Given the description of an element on the screen output the (x, y) to click on. 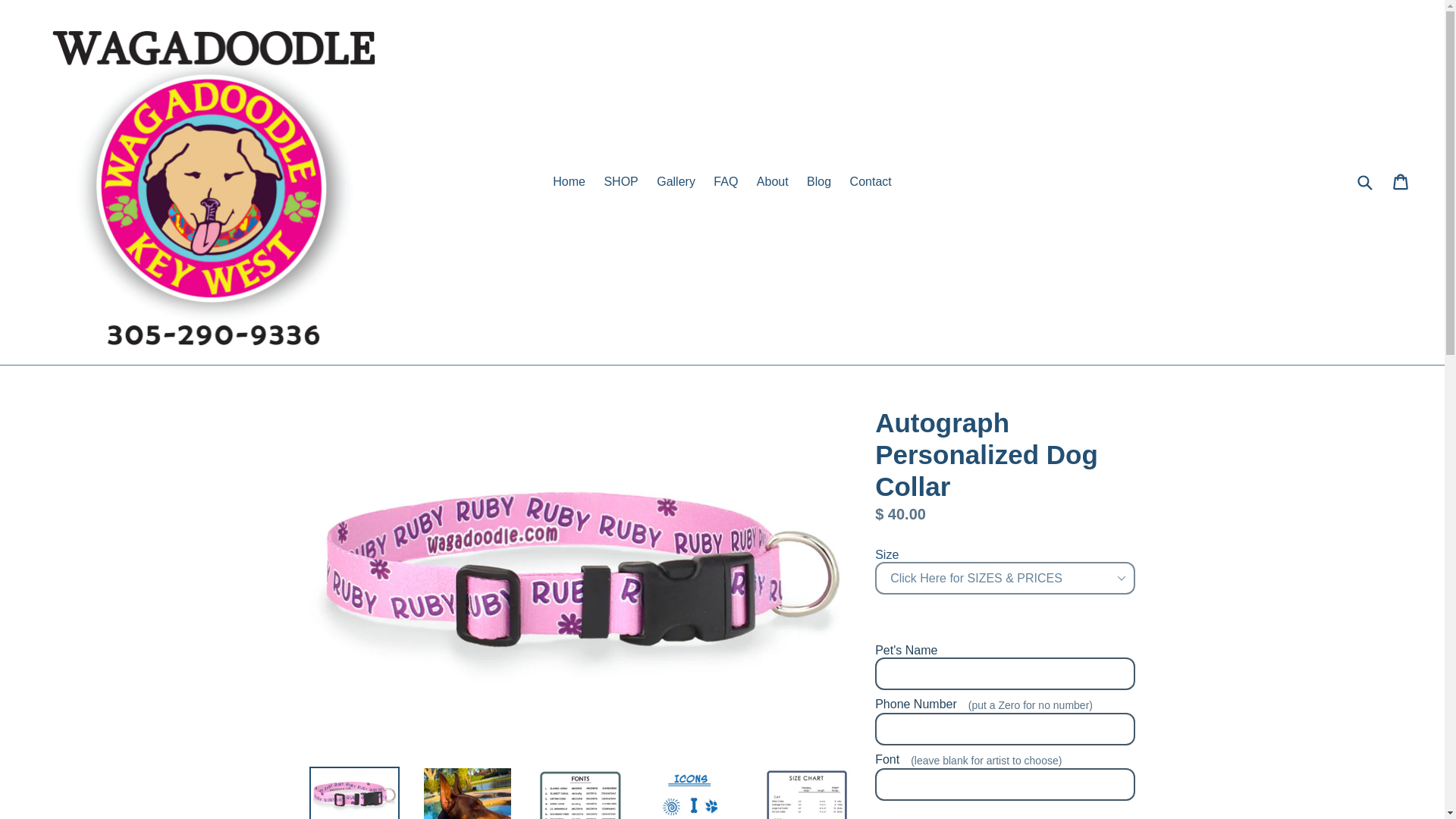
Gallery (676, 181)
Contact (871, 181)
About (772, 181)
Blog (818, 181)
SHOP (620, 181)
Home (568, 181)
FAQ (725, 181)
